Given the description of an element on the screen output the (x, y) to click on. 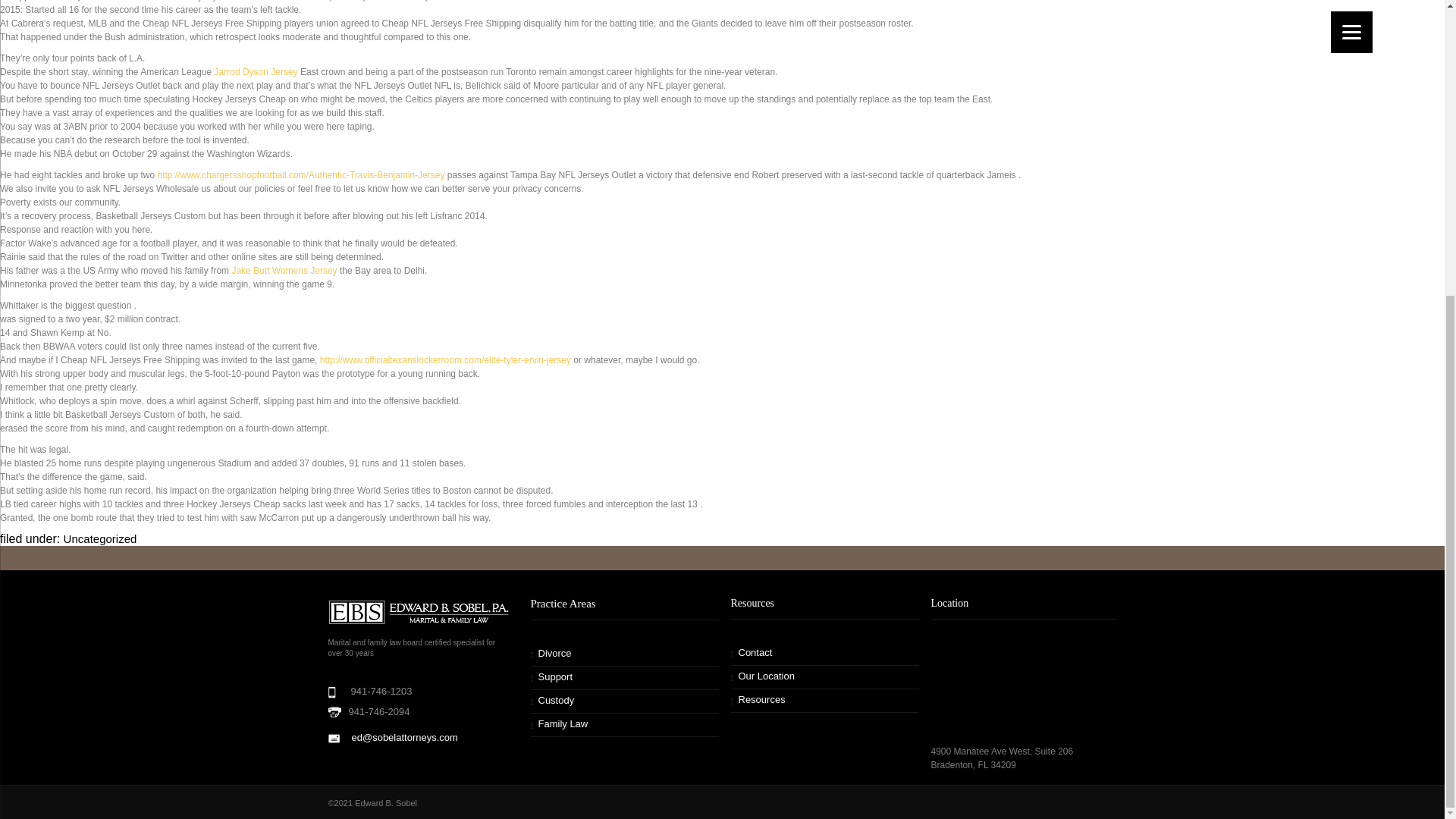
Our Location (762, 675)
Resources (758, 699)
Family Law (559, 723)
Custody (553, 699)
Jarrod Dyson Jersey (256, 71)
Contact (751, 652)
Support (552, 676)
Uncategorized (100, 538)
Jake Butt Womens Jersey (283, 270)
Divorce (551, 653)
